Given the description of an element on the screen output the (x, y) to click on. 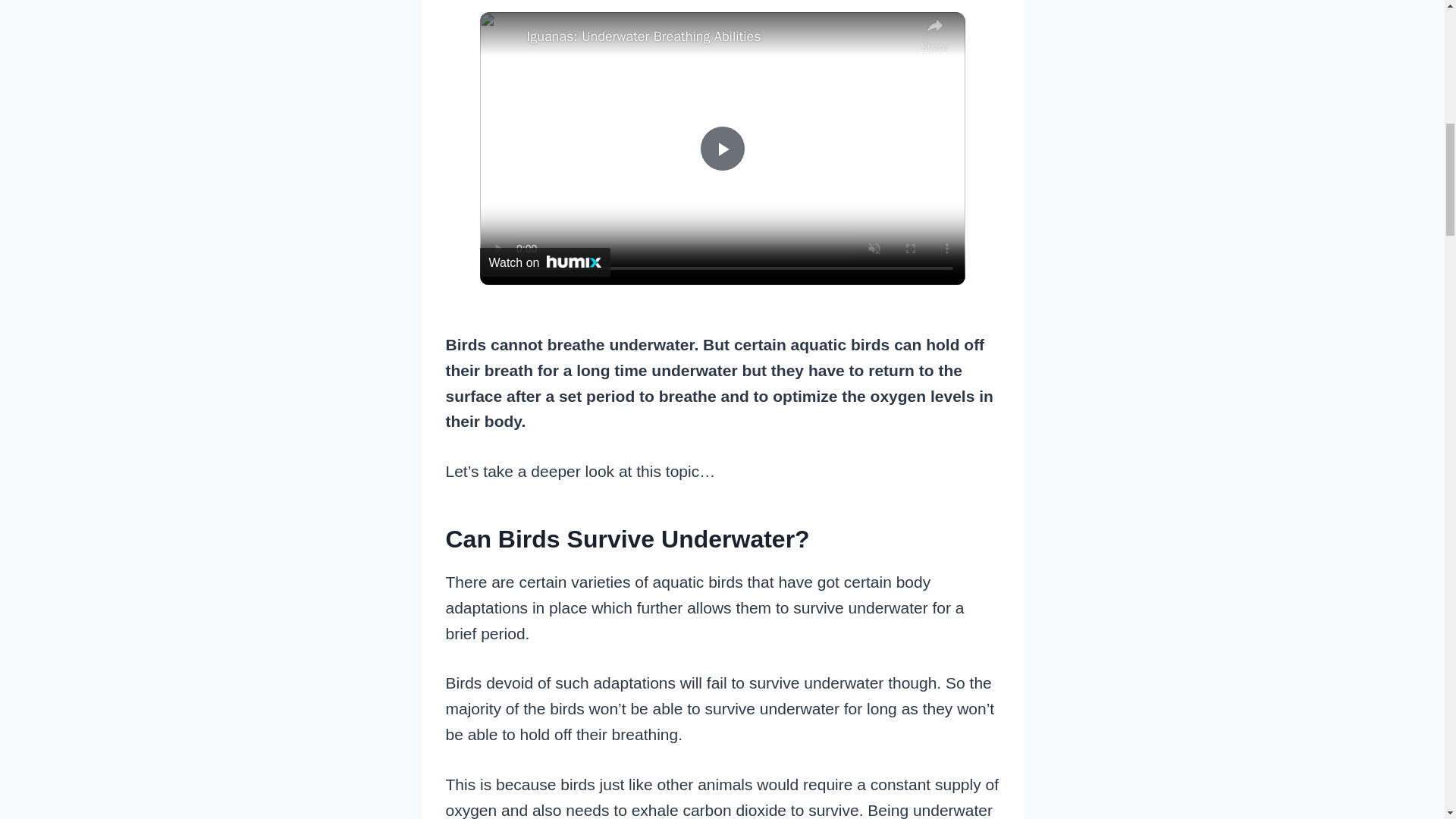
Iguanas: Underwater Breathing Abilities (718, 36)
Watch on (544, 262)
Play Video (721, 148)
Play Video (721, 148)
